Given the description of an element on the screen output the (x, y) to click on. 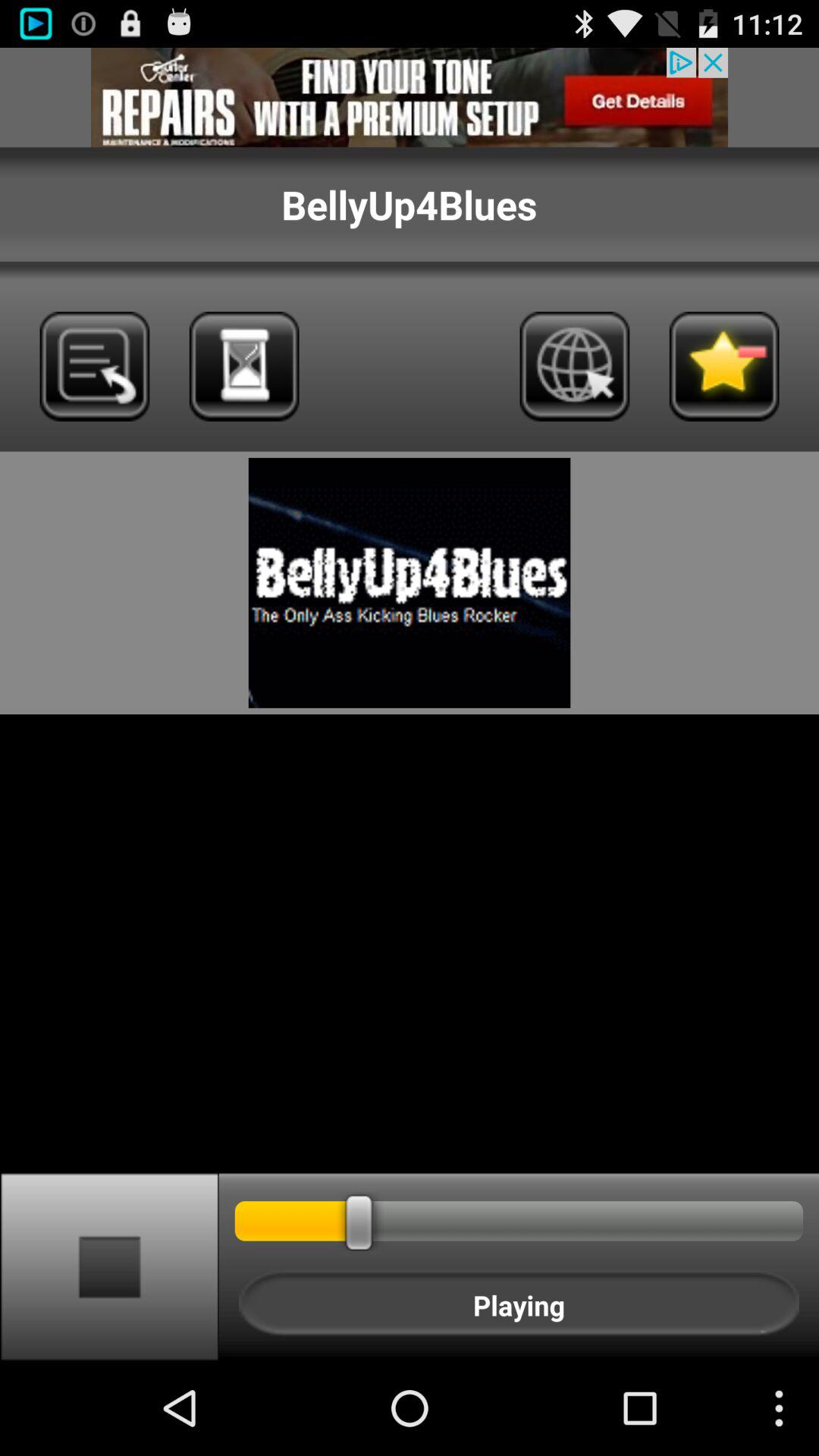
click to add to favorites (724, 366)
